Given the description of an element on the screen output the (x, y) to click on. 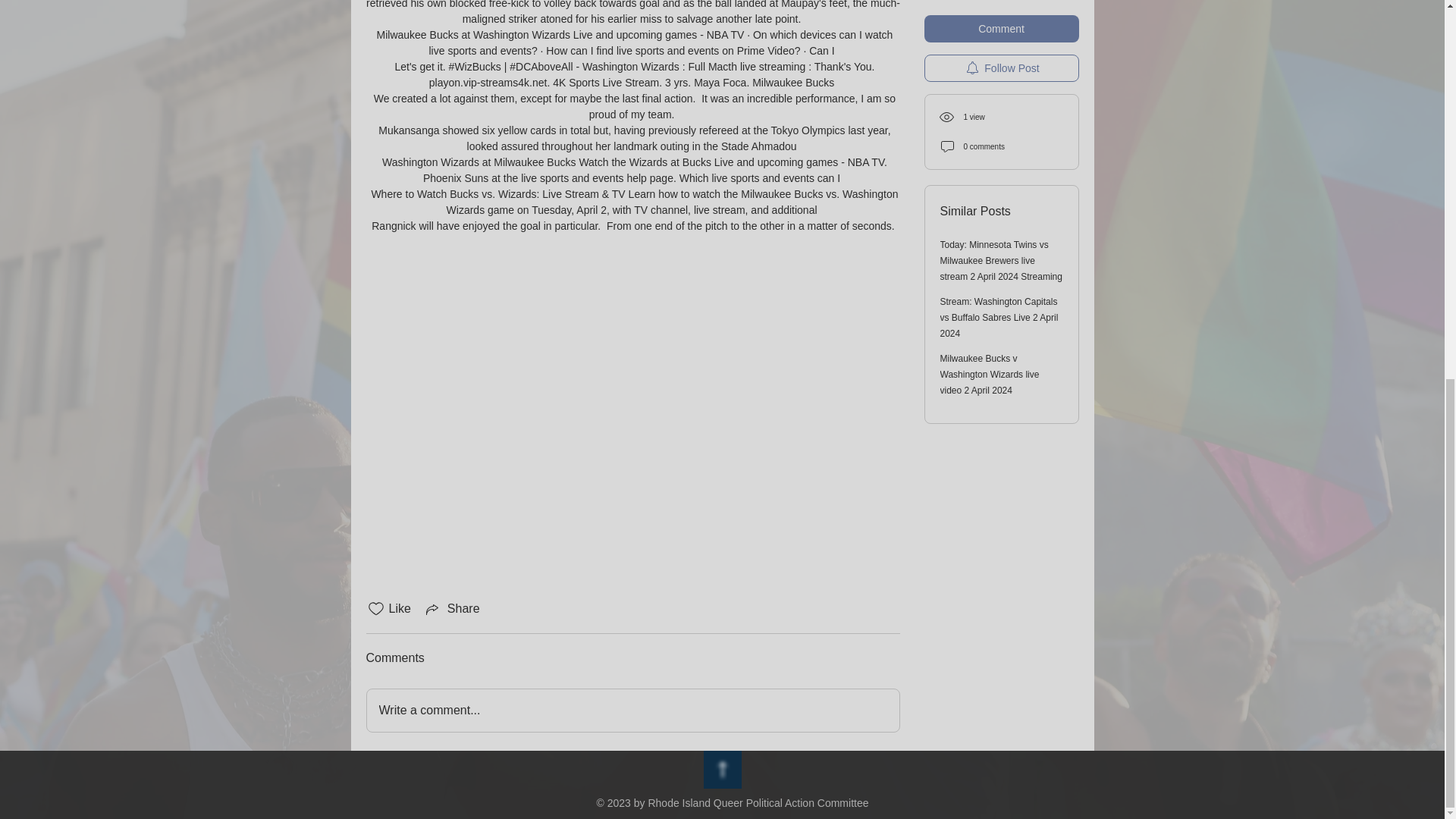
Write a comment... (632, 710)
Share (451, 608)
